Given the description of an element on the screen output the (x, y) to click on. 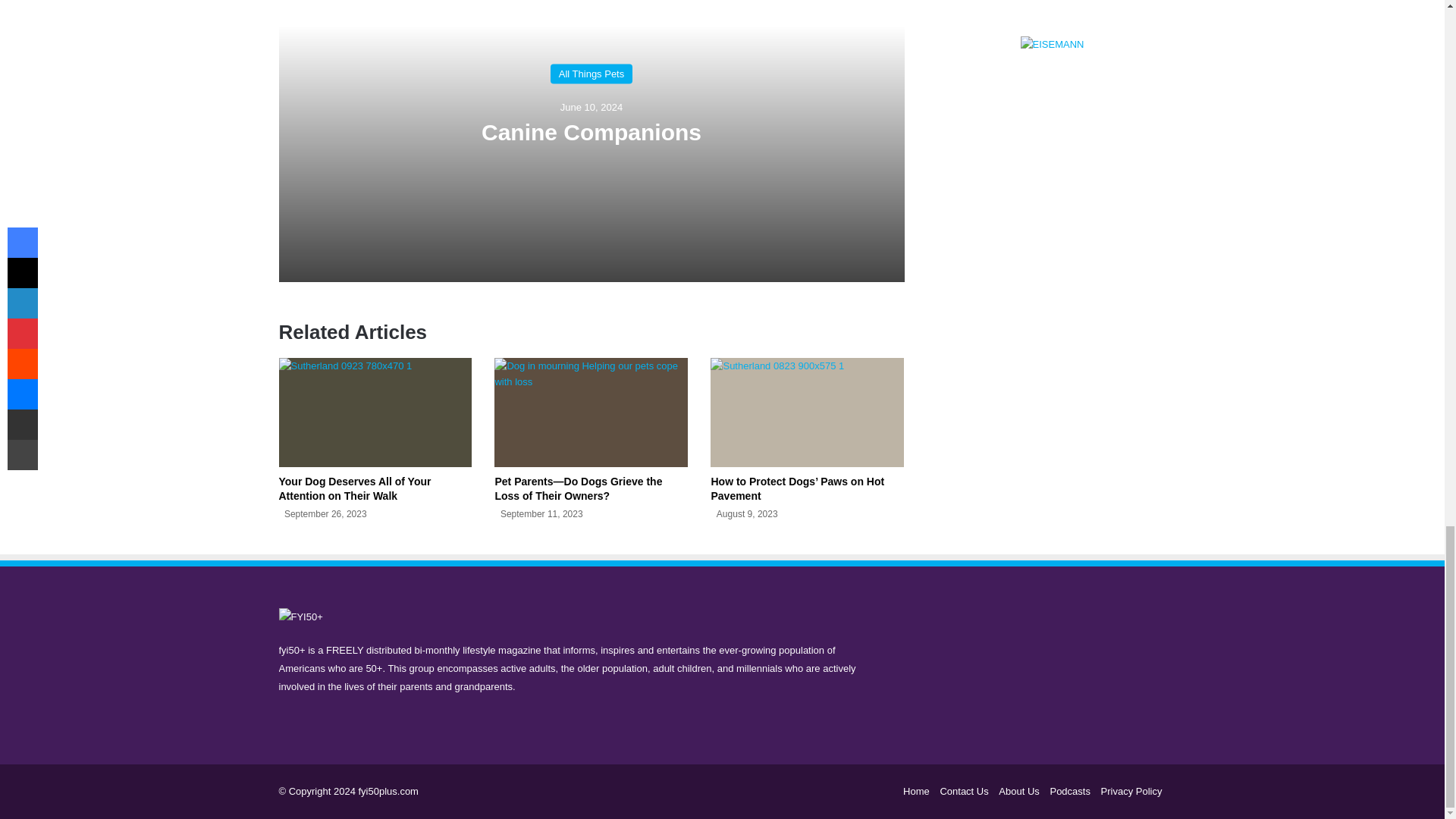
Your Dog Deserves All of Your Attention on Their Walk 2 (375, 411)
